Given the description of an element on the screen output the (x, y) to click on. 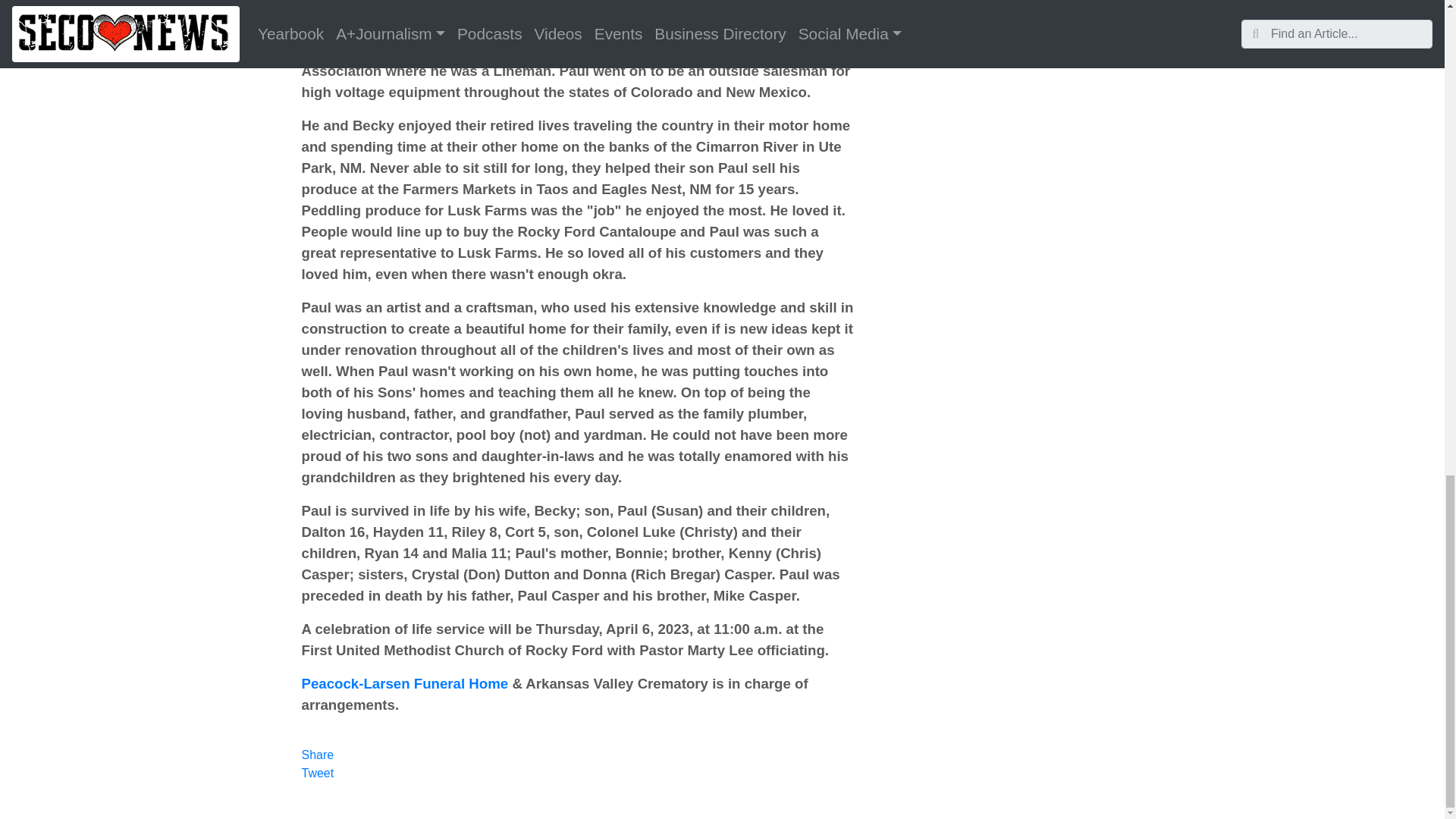
Tweet (317, 772)
Peacock-Larsen Funeral Home Website Homepage (404, 683)
Peacock-Larsen Funeral Home (404, 683)
Share (317, 754)
